Given the description of an element on the screen output the (x, y) to click on. 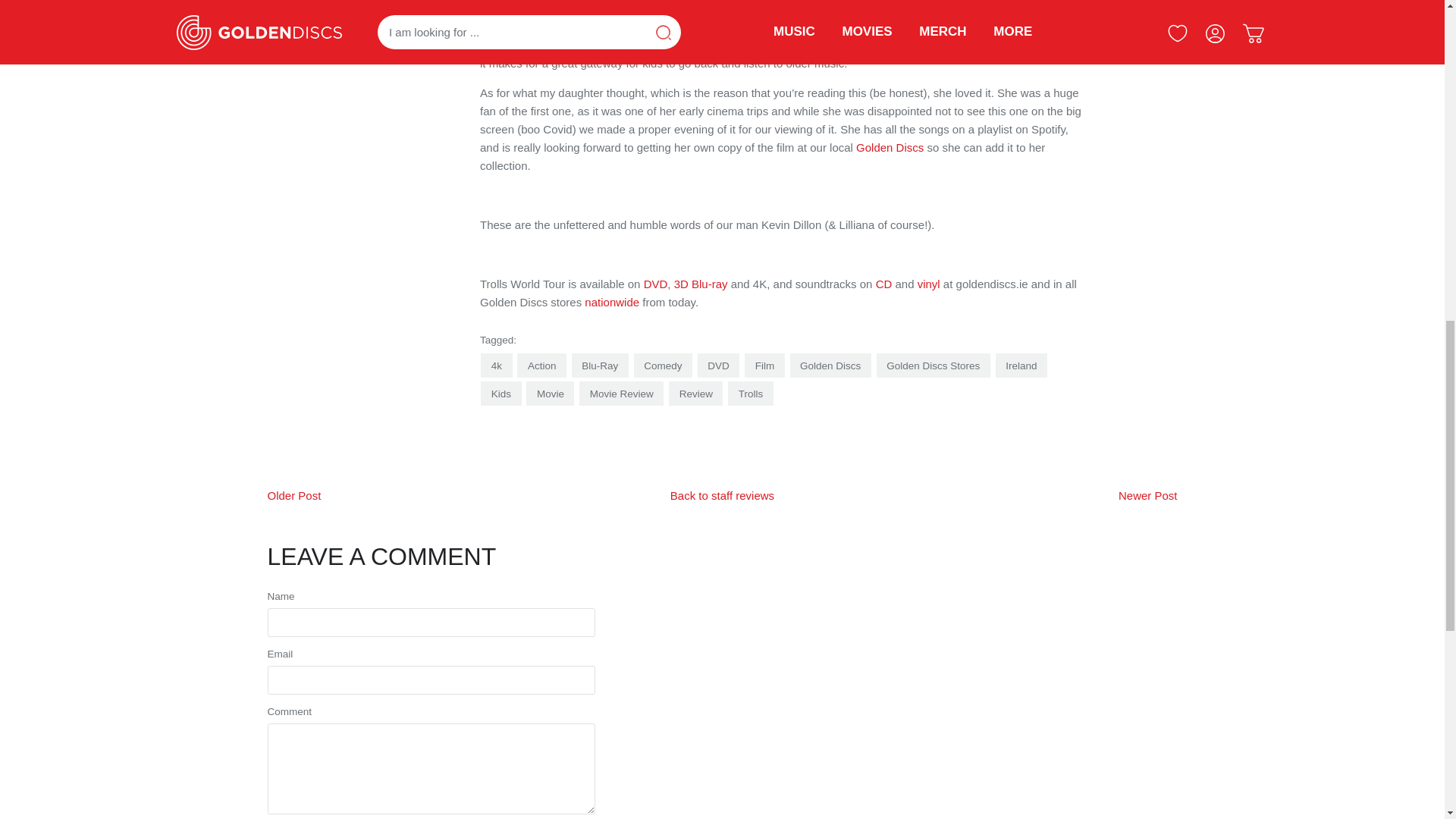
Show articles tagged Golden Discs Stores (933, 364)
Show articles tagged Review (695, 393)
Show articles tagged Movie Review (621, 393)
Show articles tagged 4k (496, 364)
Show articles tagged Kids (500, 393)
Show articles tagged Comedy (663, 364)
Show articles tagged DVD (718, 364)
Show articles tagged Trolls (750, 393)
Show articles tagged Film (764, 364)
Show articles tagged Movie (549, 393)
